Given the description of an element on the screen output the (x, y) to click on. 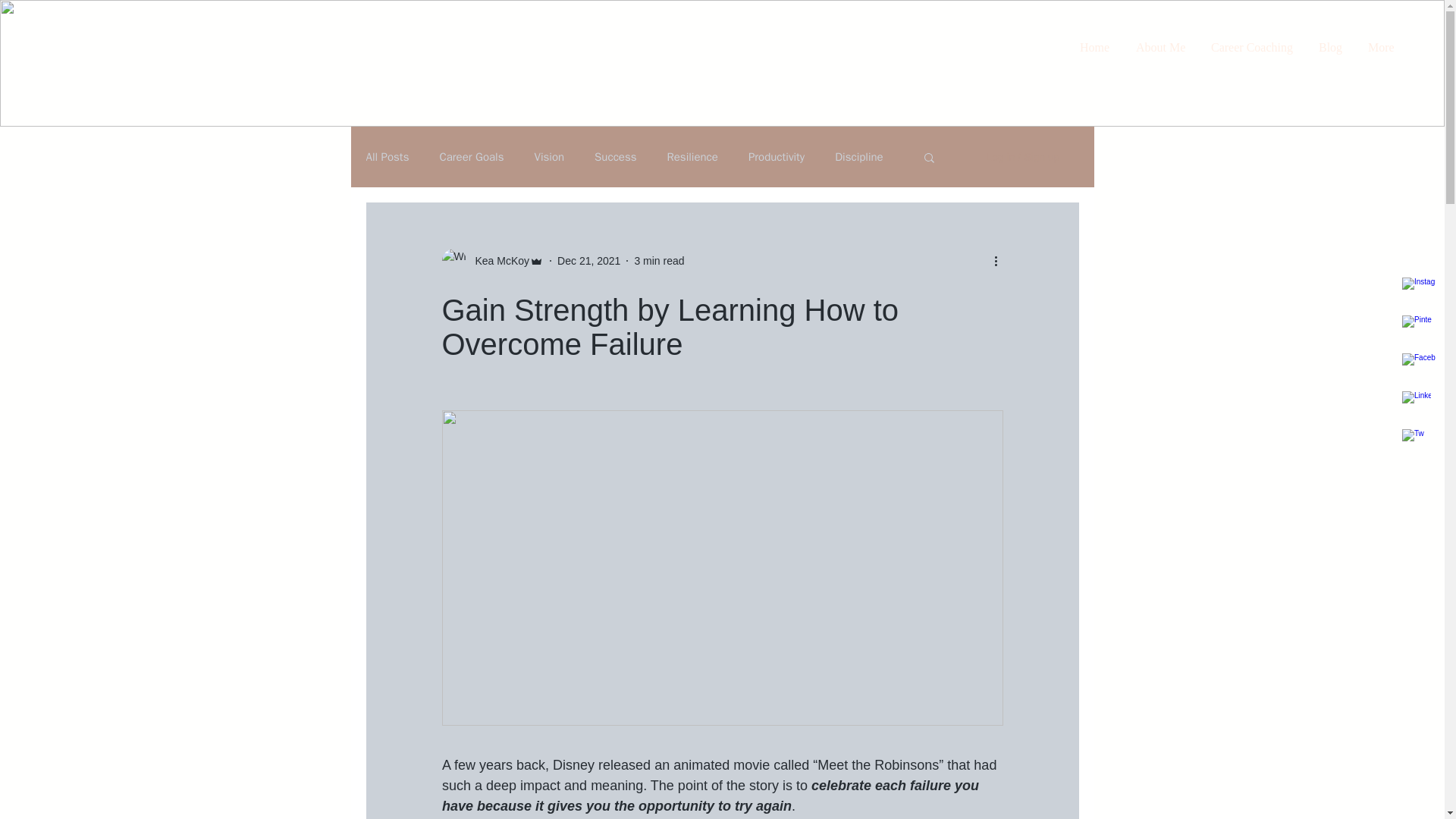
Blog (1331, 47)
All Posts (387, 156)
Success (615, 156)
Discipline (858, 156)
3 min read (658, 260)
Career Goals (471, 156)
About Me (1161, 47)
Resilience (691, 156)
Kea McKoy (497, 261)
Dec 21, 2021 (588, 260)
Vision (549, 156)
Home (1096, 47)
Productivity (776, 156)
Career Coaching (1253, 47)
